Given the description of an element on the screen output the (x, y) to click on. 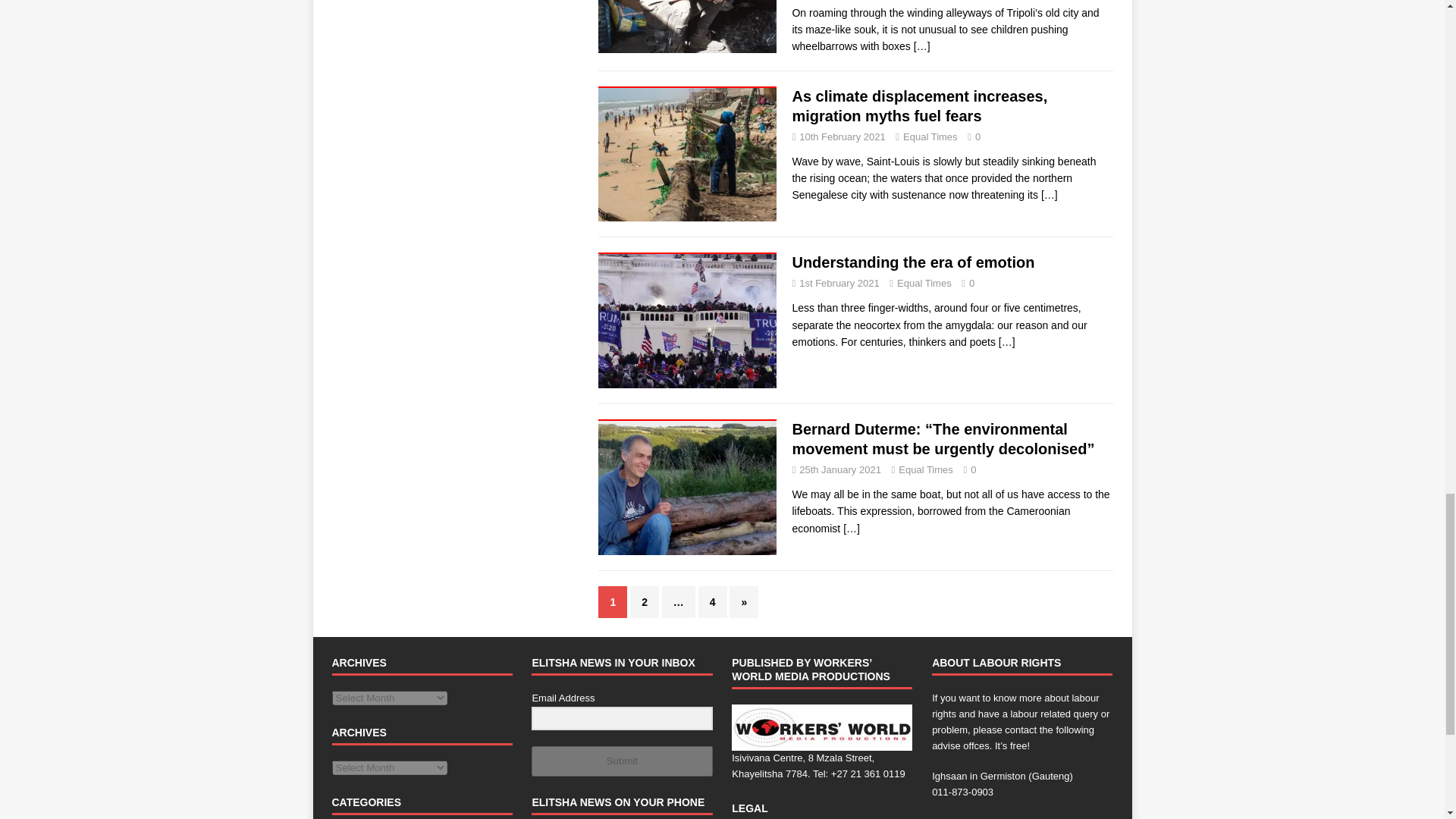
Understanding the era of emotion (1006, 341)
